Given the description of an element on the screen output the (x, y) to click on. 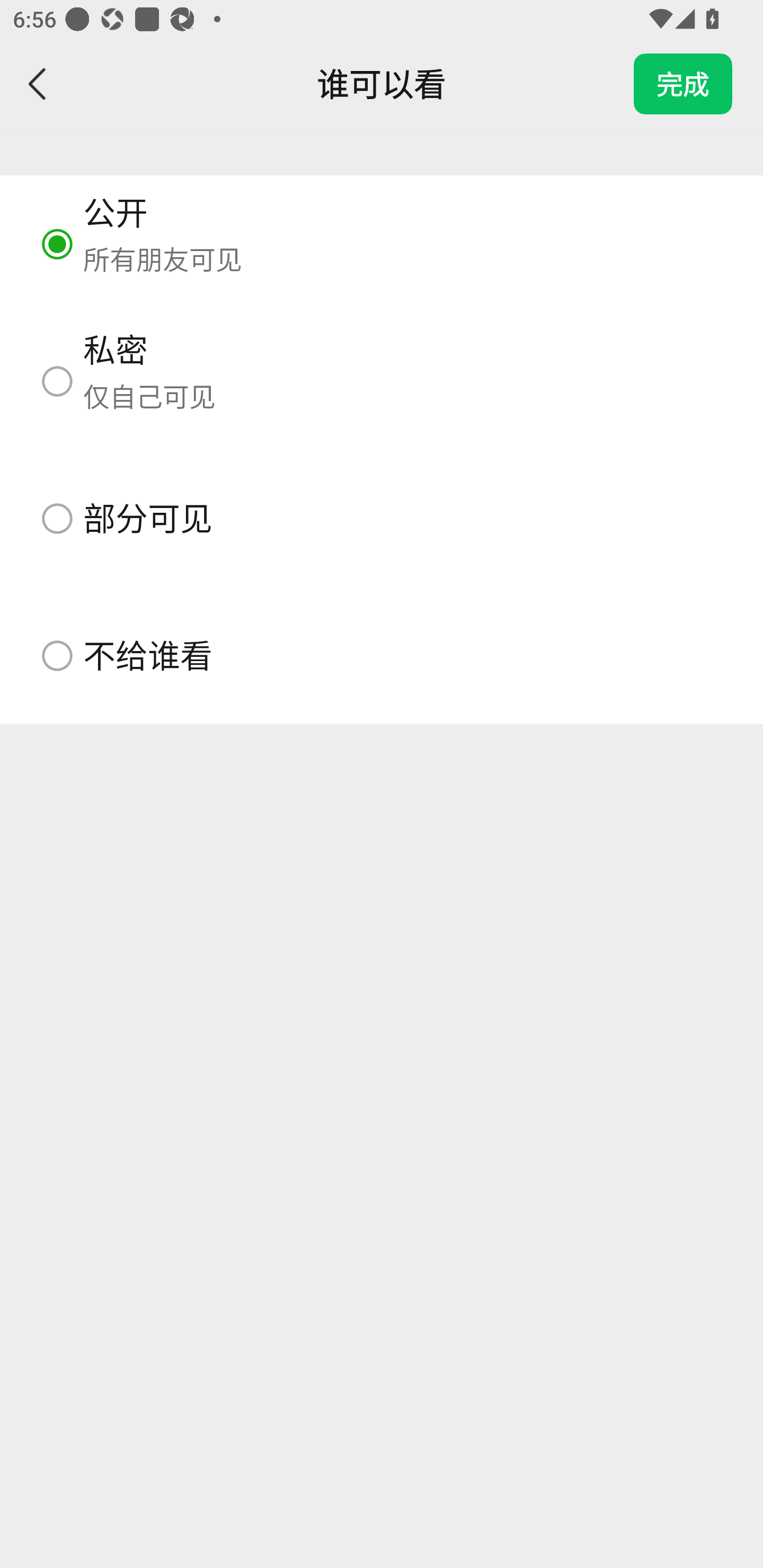
返回 (38, 83)
完成 (683, 83)
已选中 公开 所有朋友可见 (381, 243)
私密 仅自己可见 (381, 381)
部分可见 (381, 518)
不给谁看 (381, 655)
